Given the description of an element on the screen output the (x, y) to click on. 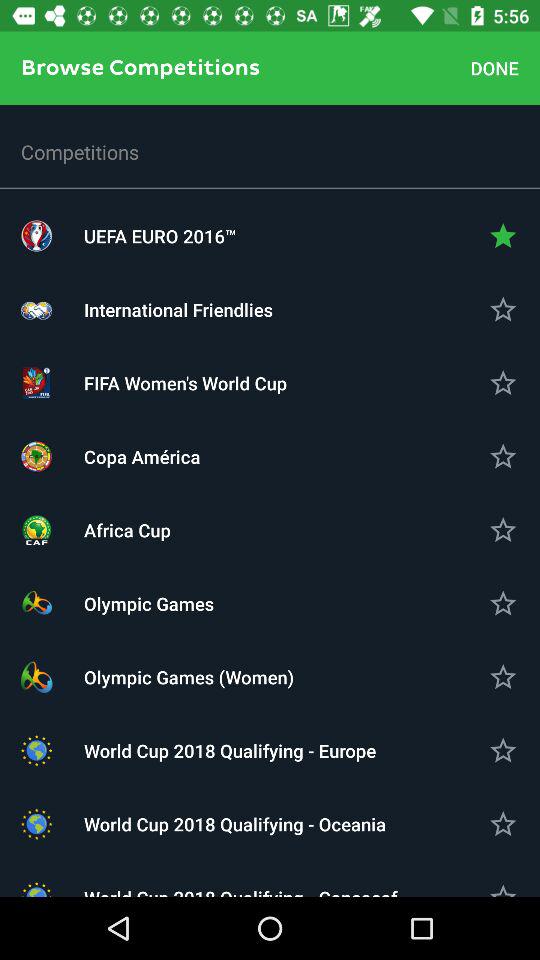
jump to fifa women s (270, 382)
